Given the description of an element on the screen output the (x, y) to click on. 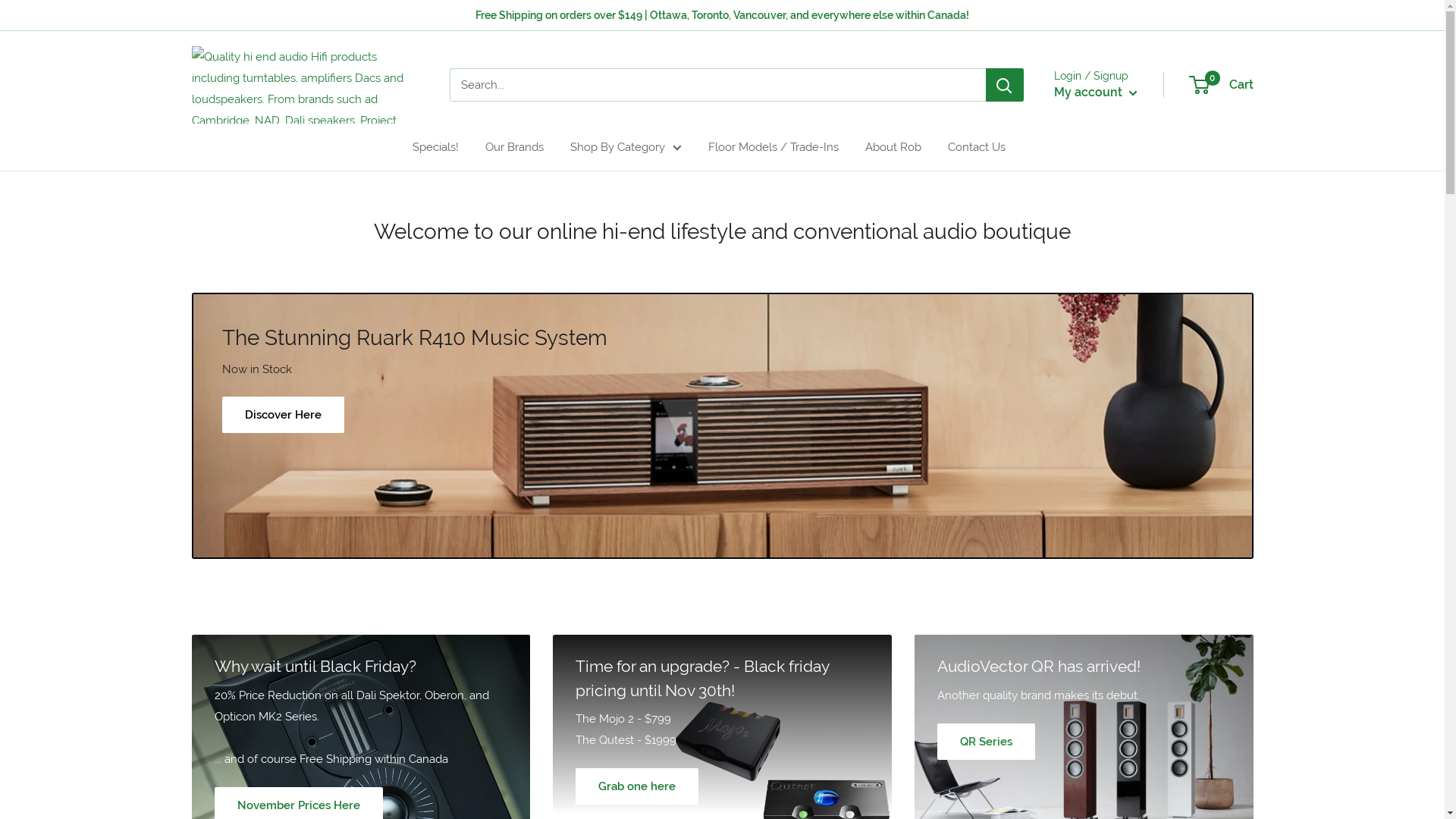
0
Cart Element type: text (1221, 84)
Floor Models / Trade-Ins Element type: text (773, 146)
Discover Here Element type: text (282, 414)
My account Element type: text (1095, 92)
Art et Son (Art and Sound) Element type: text (304, 84)
Our Brands Element type: text (514, 146)
Contact Us Element type: text (976, 146)
Specials! Element type: text (435, 146)
Shop By Category Element type: text (625, 146)
About Rob Element type: text (893, 146)
